Given the description of an element on the screen output the (x, y) to click on. 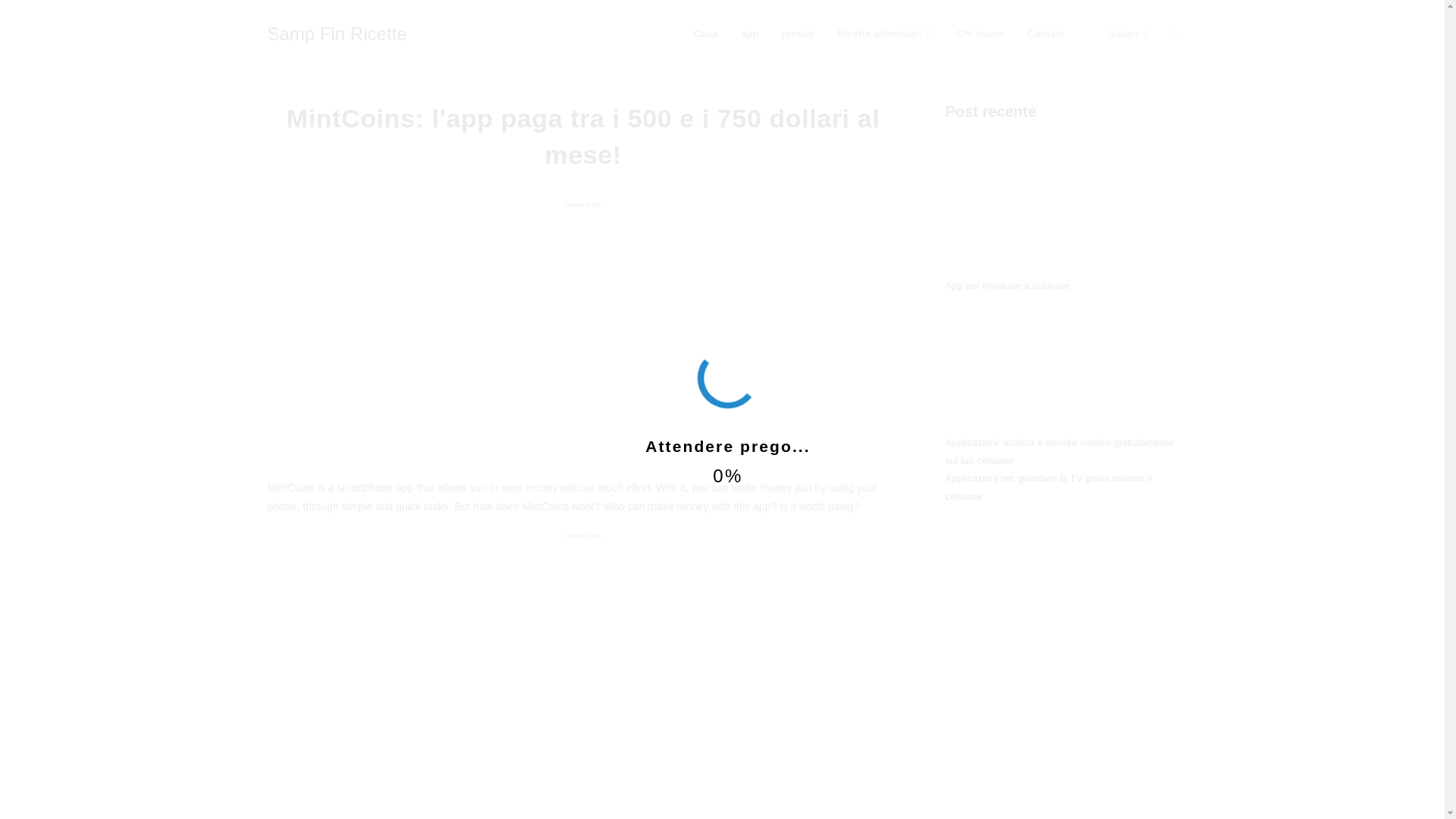
Italian (1119, 33)
Italian (1098, 32)
Samp Fin Ricette (336, 33)
Chi siamo (980, 33)
Ricette alimentari (884, 33)
Contato (1046, 33)
prestiti (797, 33)
